Given the description of an element on the screen output the (x, y) to click on. 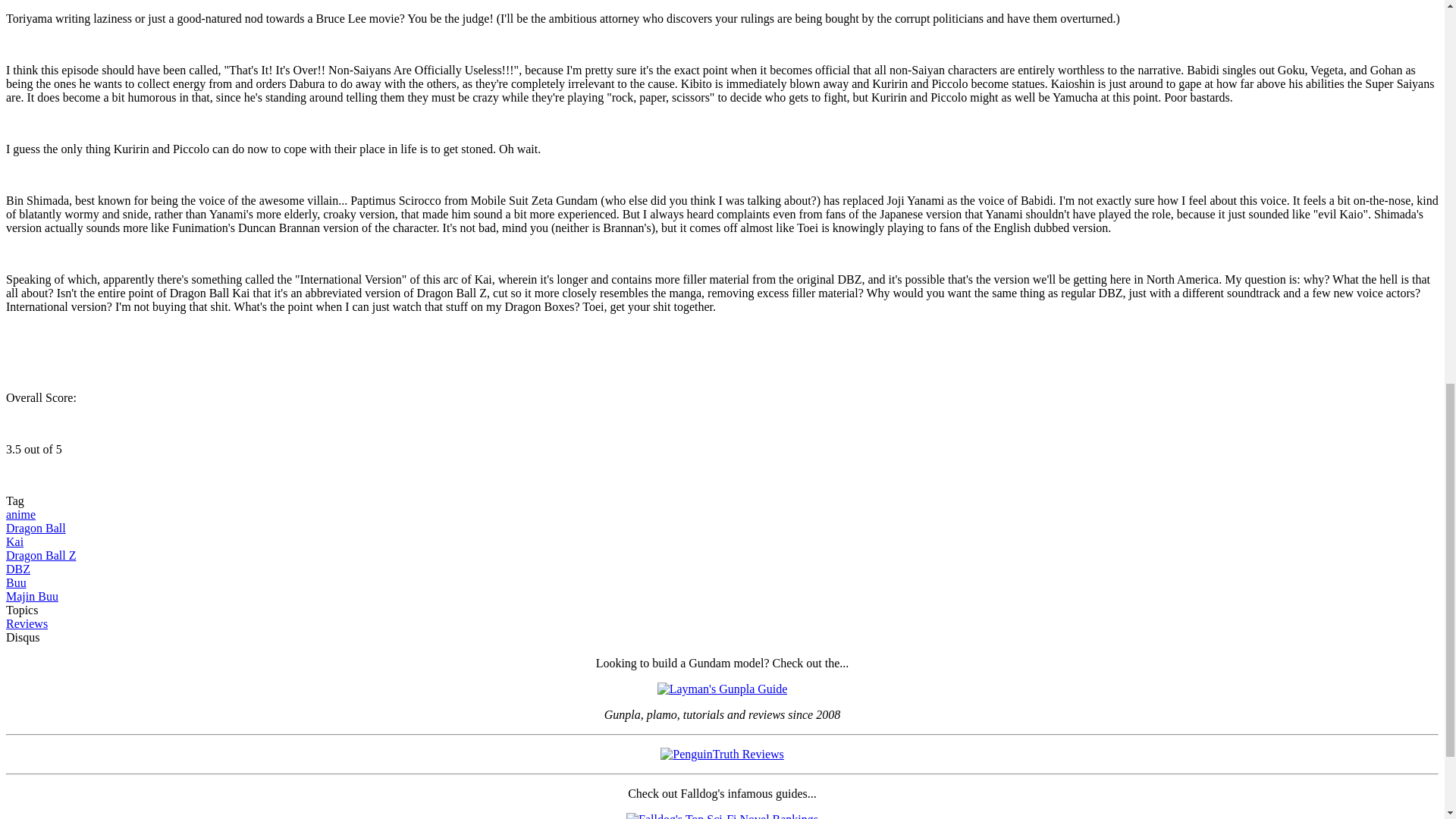
anime (19, 513)
Reviews (26, 623)
Buu (15, 582)
Kai (14, 541)
Dragon Ball Z (40, 554)
Majin Buu (31, 595)
DBZ (17, 568)
Dragon Ball (35, 527)
